Given the description of an element on the screen output the (x, y) to click on. 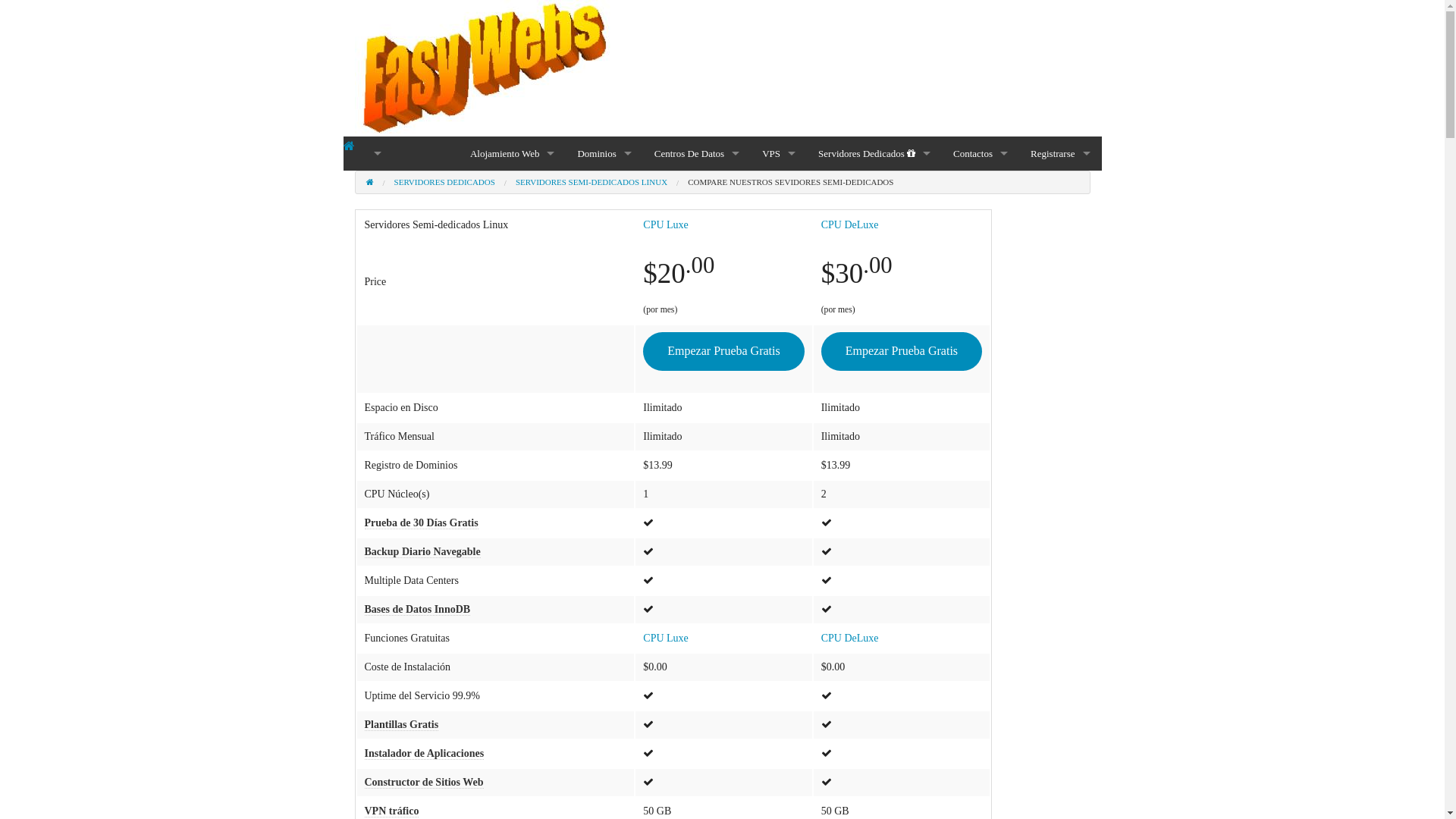
CPU Luxe Element type: text (665, 224)
Easy Basic 1 Element type: text (512, 187)
Entrar a Webmail Element type: text (1125, 259)
English Element type: text (373, 153)
CPU Luxe Element type: text (738, 187)
SERVIDORES SEMI-DEDICADOS LINUX Element type: text (591, 181)
CPU DeLuxe Element type: text (849, 224)
Sobre-nosotros Element type: text (980, 187)
Registrarse Element type: text (1060, 153)
Entrar Element type: text (1108, 231)
Dominios Element type: text (603, 153)
KVM 1 Element type: text (722, 221)
Centros De Datos Element type: text (696, 153)
COMPARE NUESTROS SEVIDORES SEMI-DEDICADOS Element type: text (790, 181)
Easy Ultimate Element type: text (512, 290)
Empezar Prueba Gratis Element type: text (723, 351)
Easy Pro Element type: text (512, 255)
Servidores VPS Linux KVM Element type: text (778, 221)
Submit Element type: text (1124, 452)
CPU DeLuxe Element type: text (849, 637)
VPS Element type: text (778, 153)
Entrar Element type: text (1127, 332)
SERVIDORES DEDICADOS Element type: text (444, 181)
OpenVZ Servidores VPS Linux Element type: text (778, 187)
EASY Webs Element type: hover (482, 68)
SSL Element type: text (603, 255)
Alojamiento Web Element type: text (512, 153)
EASY Webs Element type: hover (348, 145)
Contactos Element type: text (980, 153)
Servidores Dedicados Element type: text (873, 153)
CPU Luxe Element type: text (665, 637)
Servidores Semi-dedicados Linux Element type: text (873, 187)
Nombres De Dominios Precios Element type: text (603, 187)
Easy Plus 5 Element type: text (512, 221)
Contactos Element type: text (980, 221)
Empezar Prueba Gratis Element type: text (901, 351)
